Given the description of an element on the screen output the (x, y) to click on. 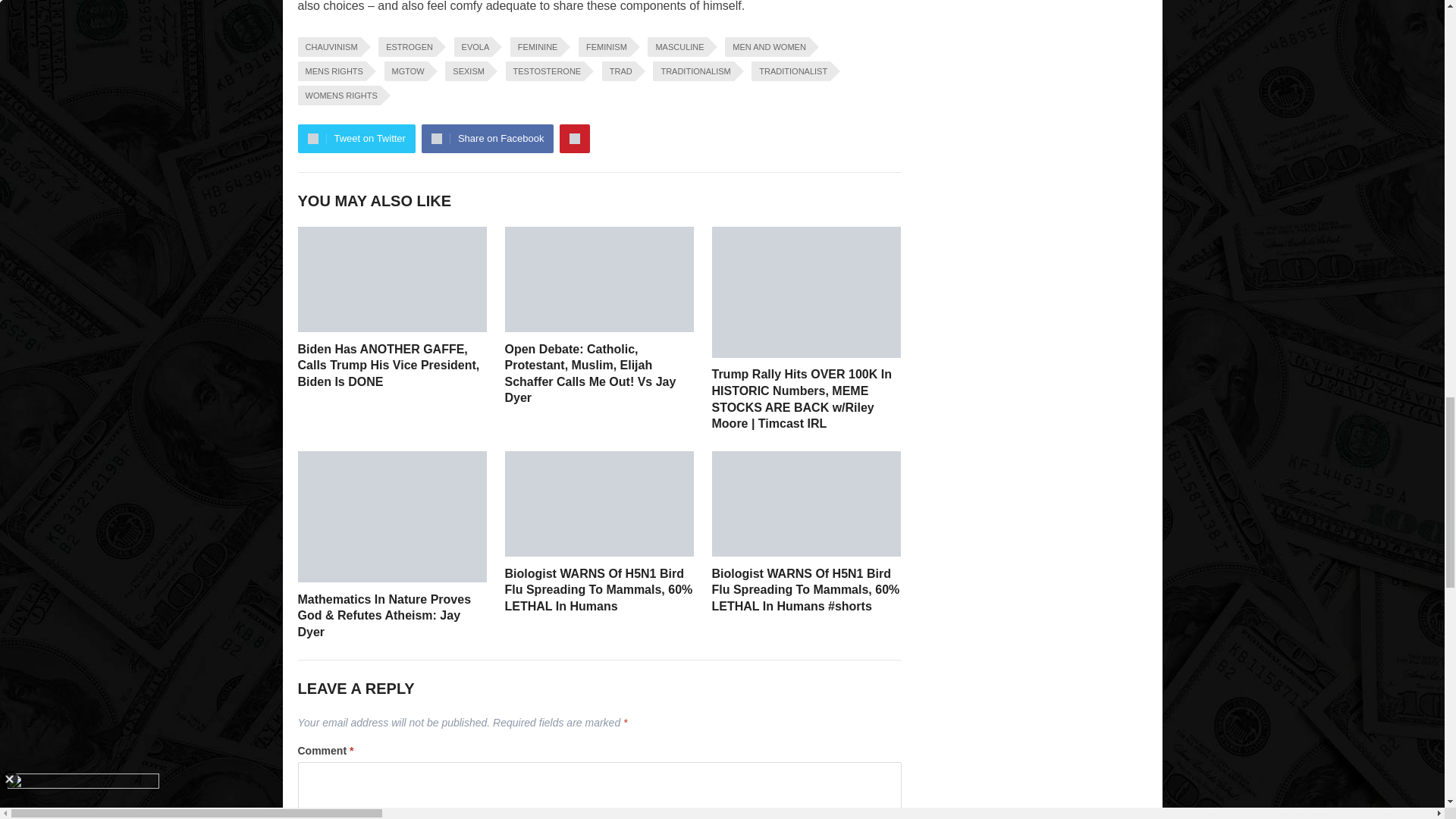
EVOLA (473, 46)
FEMININE (535, 46)
FEMINISM (604, 46)
CHAUVINISM (328, 46)
MEN AND WOMEN (767, 46)
TRAD (618, 71)
WOMENS RIGHTS (338, 95)
MGTOW (406, 71)
MASCULINE (676, 46)
TRADITIONALISM (692, 71)
MENS RIGHTS (331, 71)
Share on Facebook (487, 138)
TRADITIONALIST (790, 71)
SEXISM (466, 71)
TESTOSTERONE (545, 71)
